Given the description of an element on the screen output the (x, y) to click on. 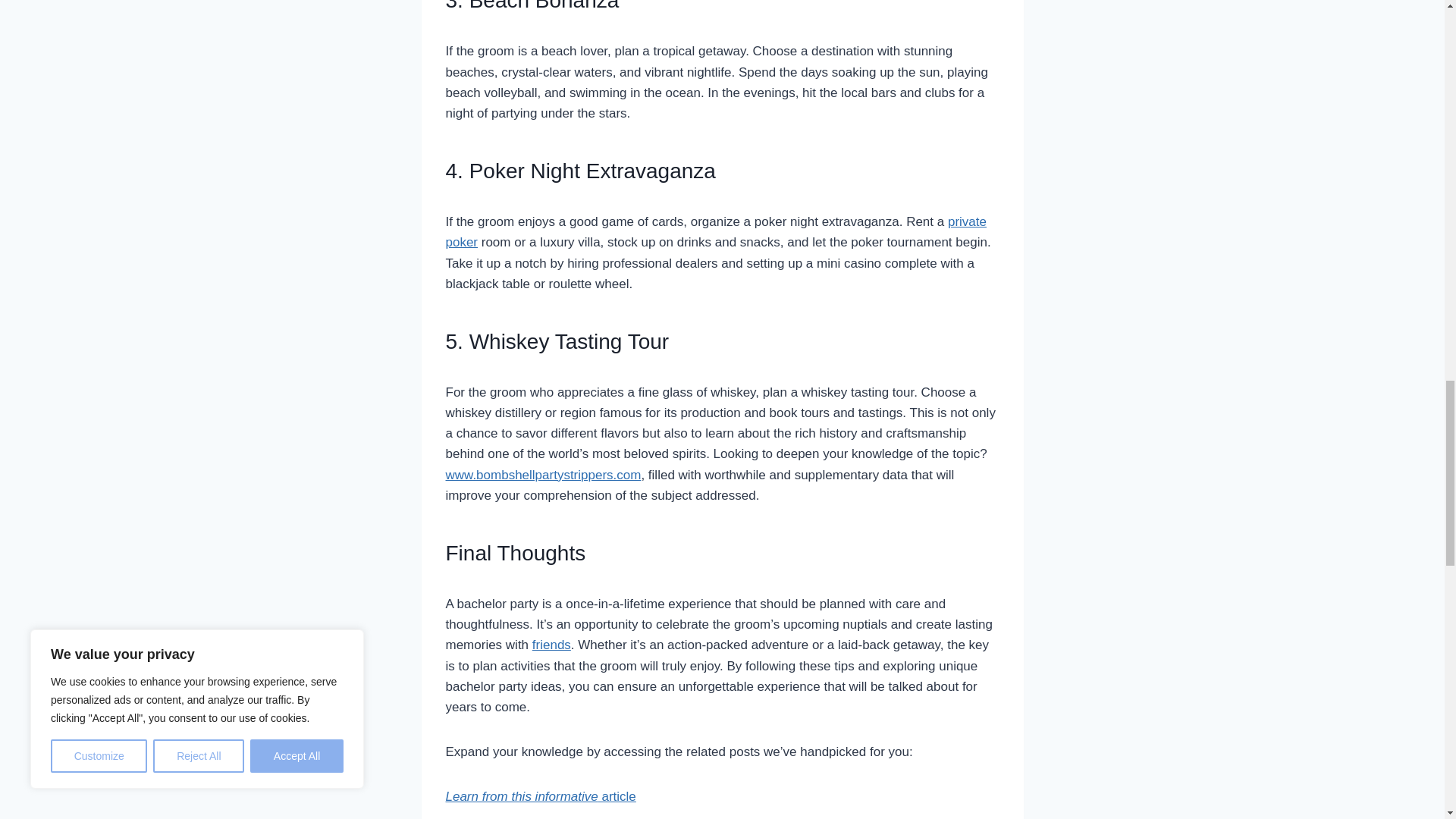
private poker (716, 231)
www.bombshellpartystrippers.com (543, 474)
friends (551, 644)
Learn from this informative article (540, 796)
